Given the description of an element on the screen output the (x, y) to click on. 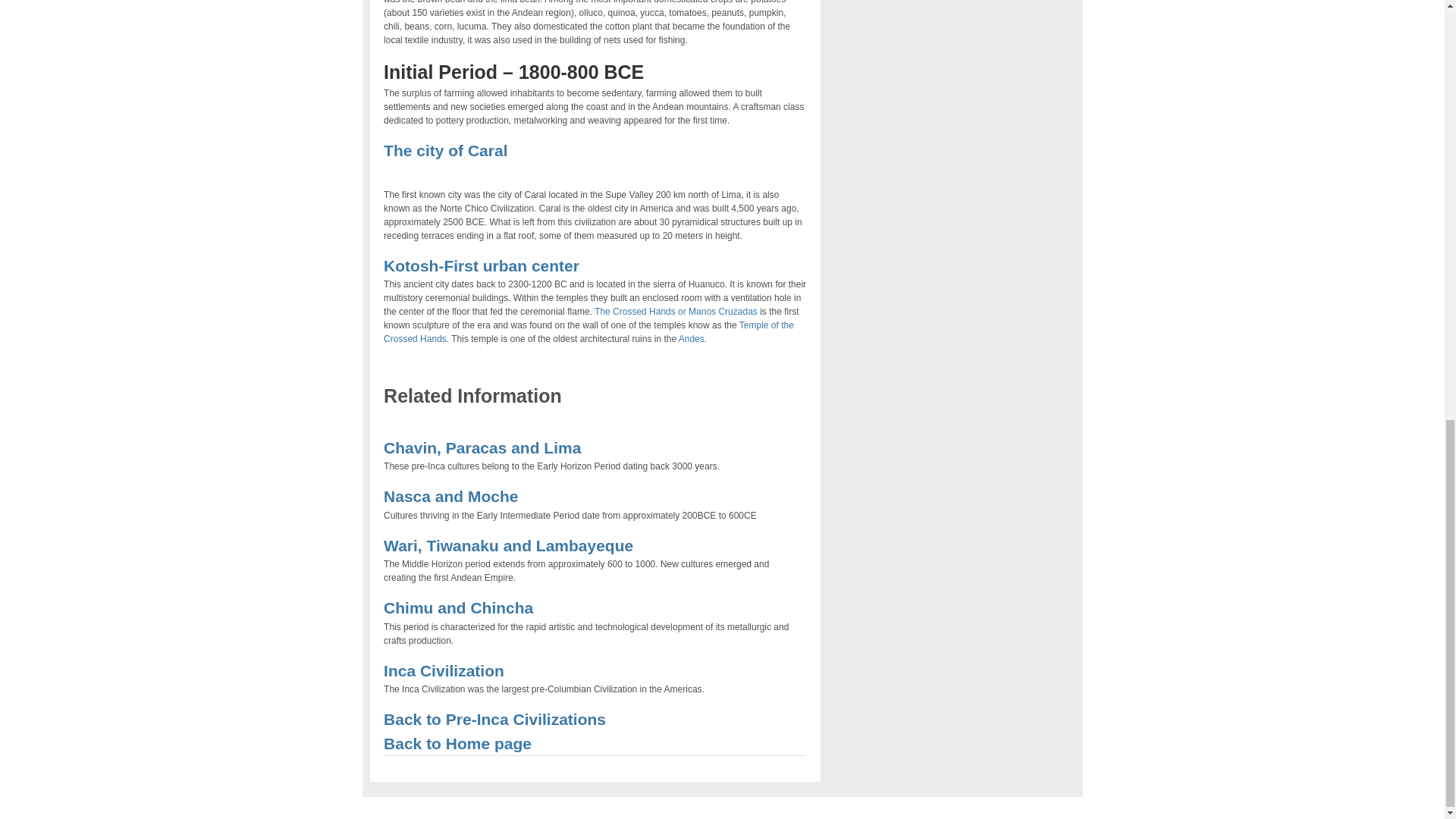
Chavin, Paracas and Lima (482, 447)
Kotosh-First urban center (481, 265)
Back to Pre-Inca Civilizations (494, 719)
Back to Home page (457, 743)
The Crossed Hands or Manos Cruzadas (675, 311)
Andes (691, 338)
Nasca and Moche (451, 496)
The city of Caral (445, 149)
Temple of the Crossed Hands (588, 331)
Discover Peru (457, 743)
